Given the description of an element on the screen output the (x, y) to click on. 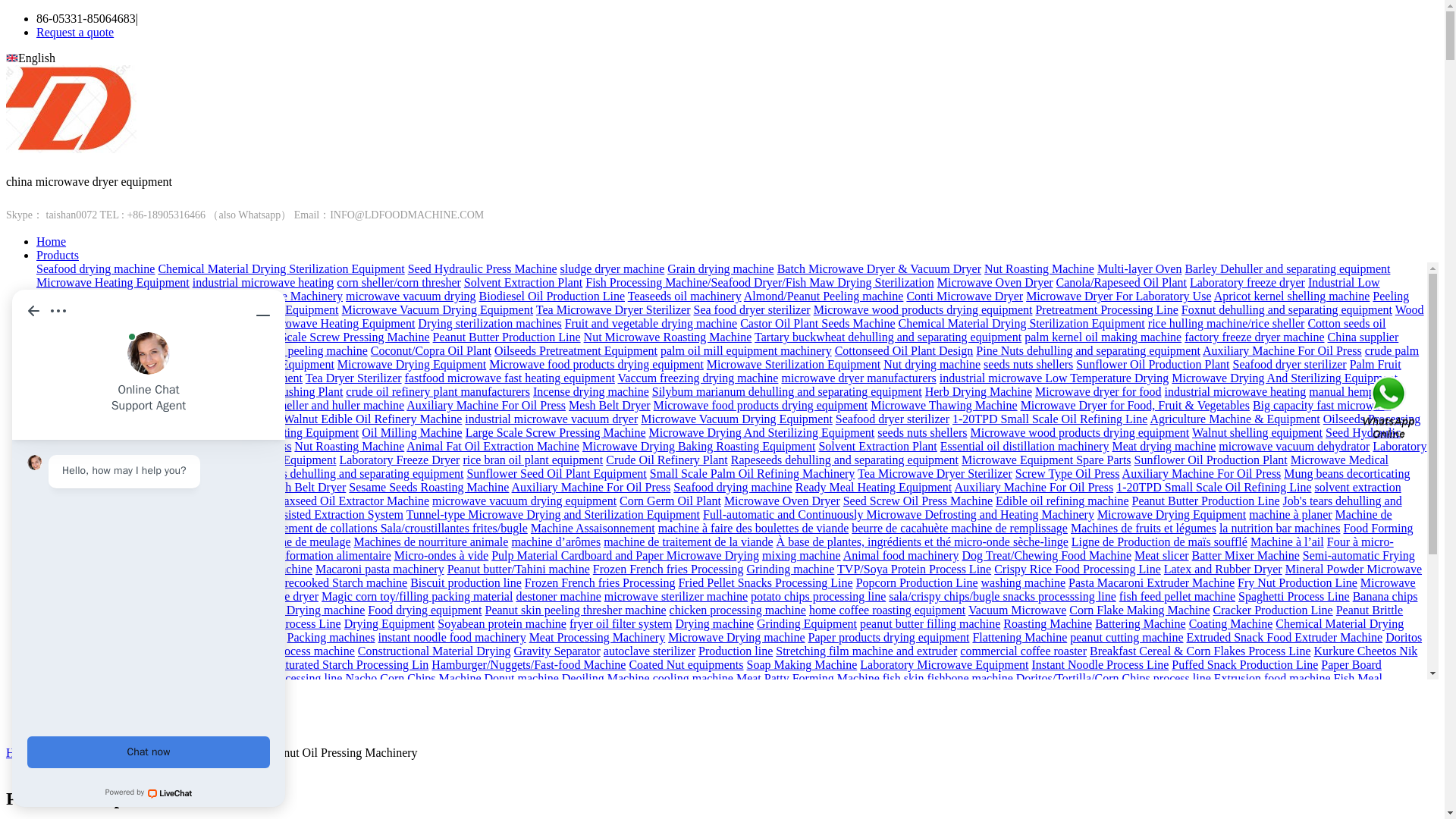
Solvent Extraction Plant (523, 282)
Biodiesel Oil Production Line (551, 295)
Oil Fractionation Equipment (269, 309)
Conti Microwave Dryer (964, 295)
Peeling Machine (722, 302)
Barley Dehuller and separating equipment (1287, 268)
microwave vacuum drying (411, 295)
Industrial Low Temperature Microwave Systems (708, 289)
industrial microwave heating (263, 282)
Sea food dryer sterilizer (751, 309)
Multi-layer Oven (1139, 268)
tea leaf drying machine (138, 309)
Microwave Dryer For Laboratory Use (1118, 295)
Nut Roasting Machine (1039, 268)
Grain drying machine (719, 268)
